Given the description of an element on the screen output the (x, y) to click on. 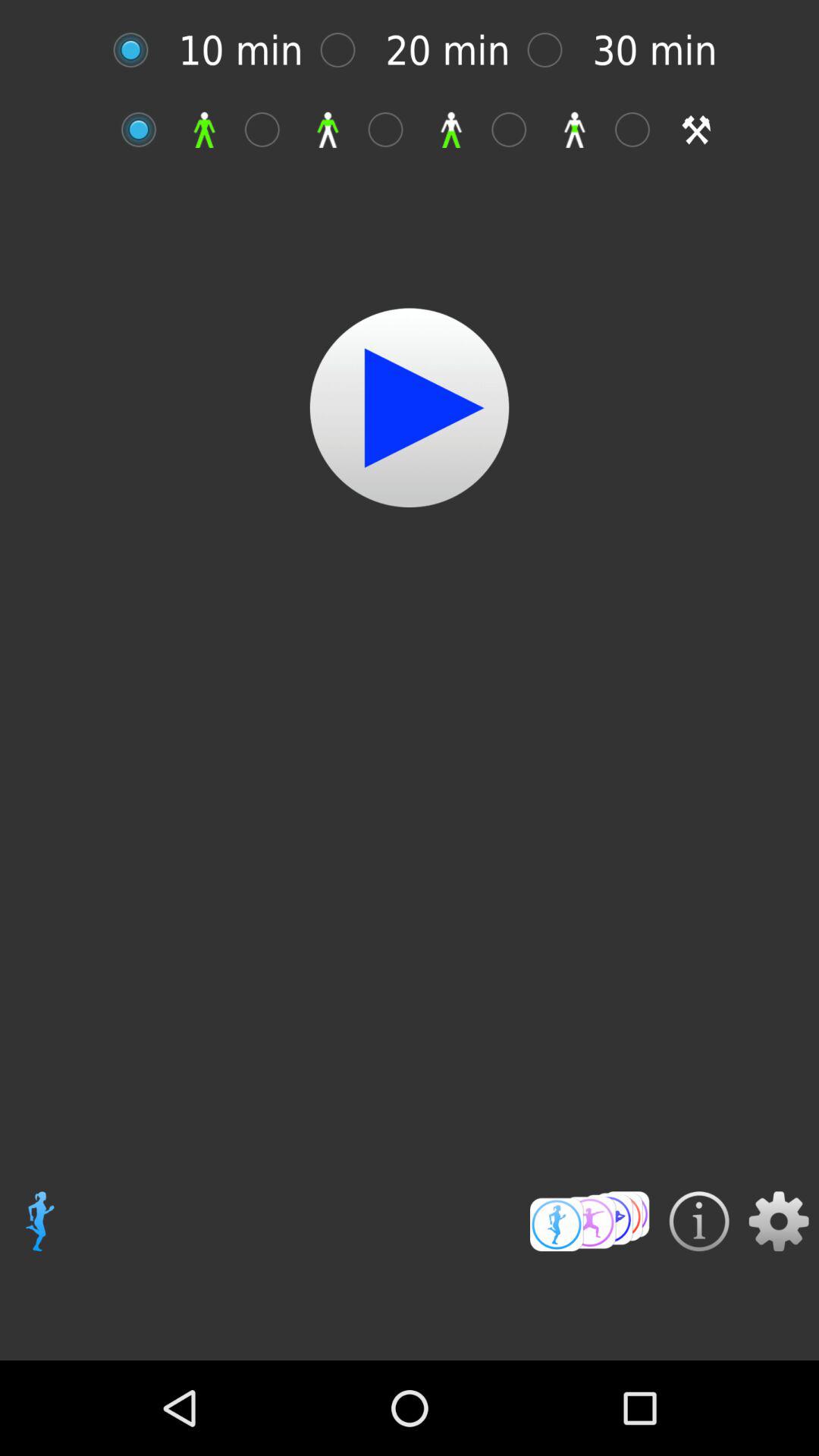
open menu (589, 1221)
